Given the description of an element on the screen output the (x, y) to click on. 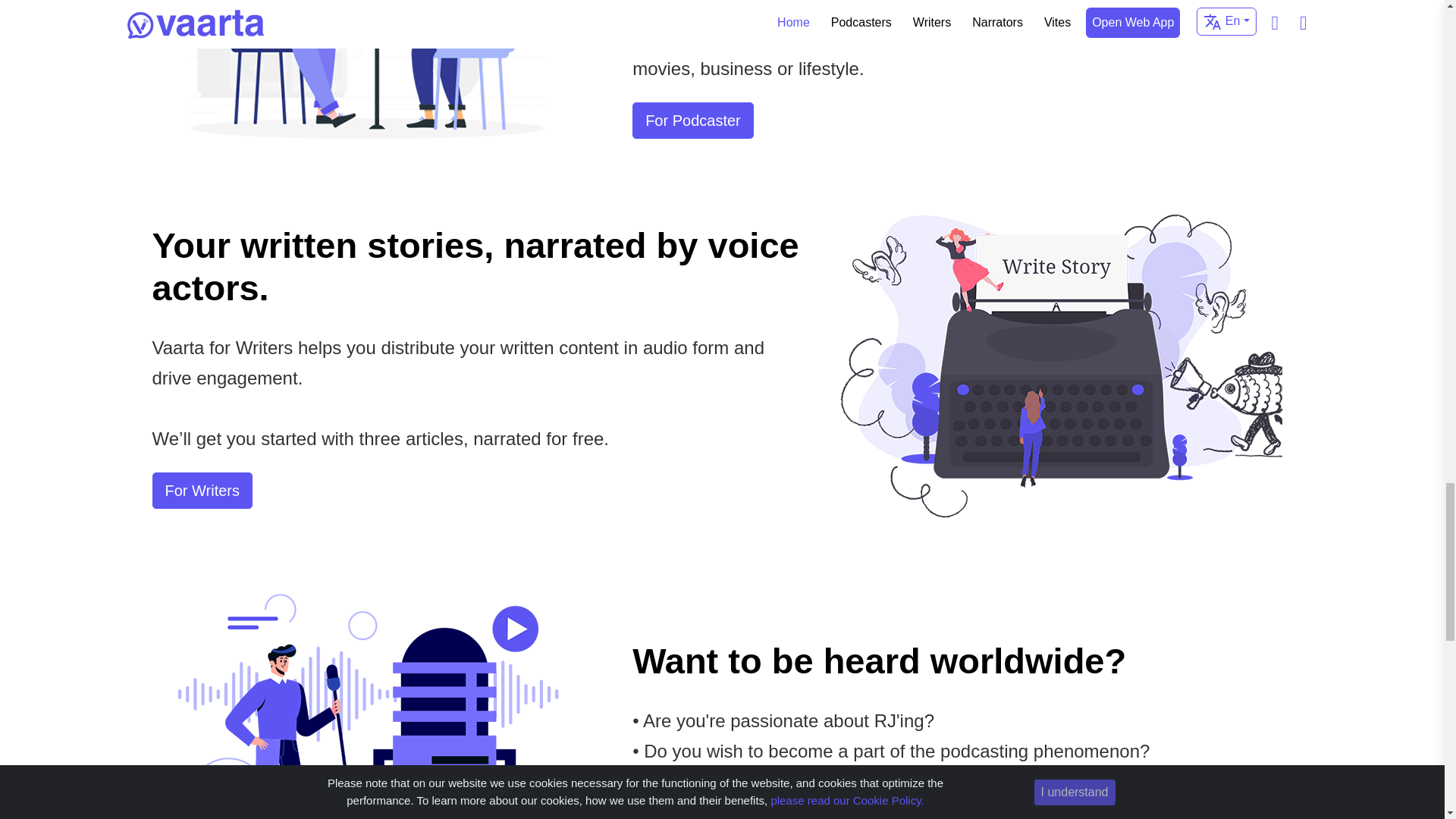
For Podcaster (692, 120)
